Given the description of an element on the screen output the (x, y) to click on. 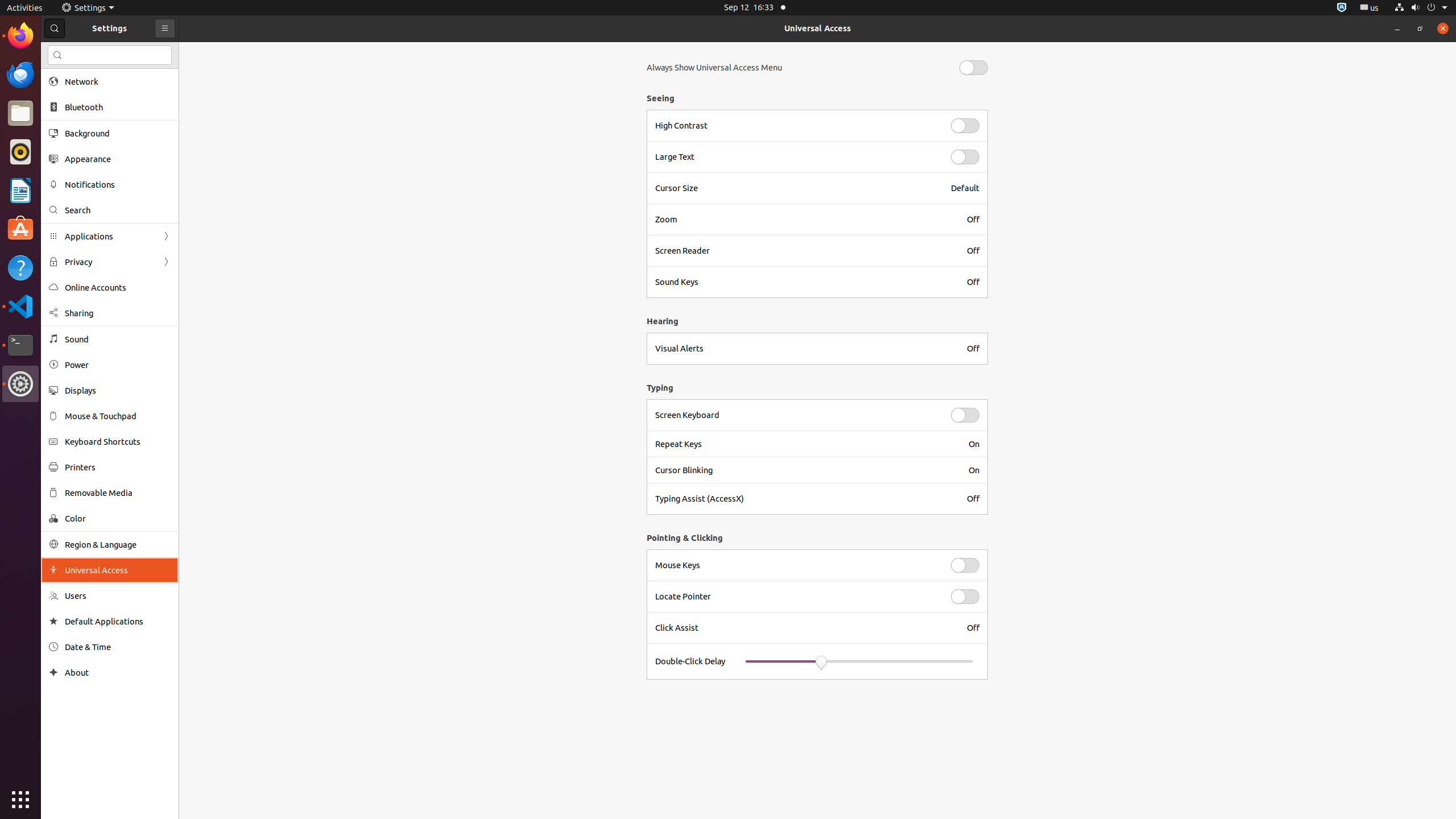
Users Element type: label (117, 595)
On Element type: label (973, 443)
Seeing Element type: label (813, 97)
Search Element type: text (109, 54)
High Contrast Element type: label (796, 125)
